Given the description of an element on the screen output the (x, y) to click on. 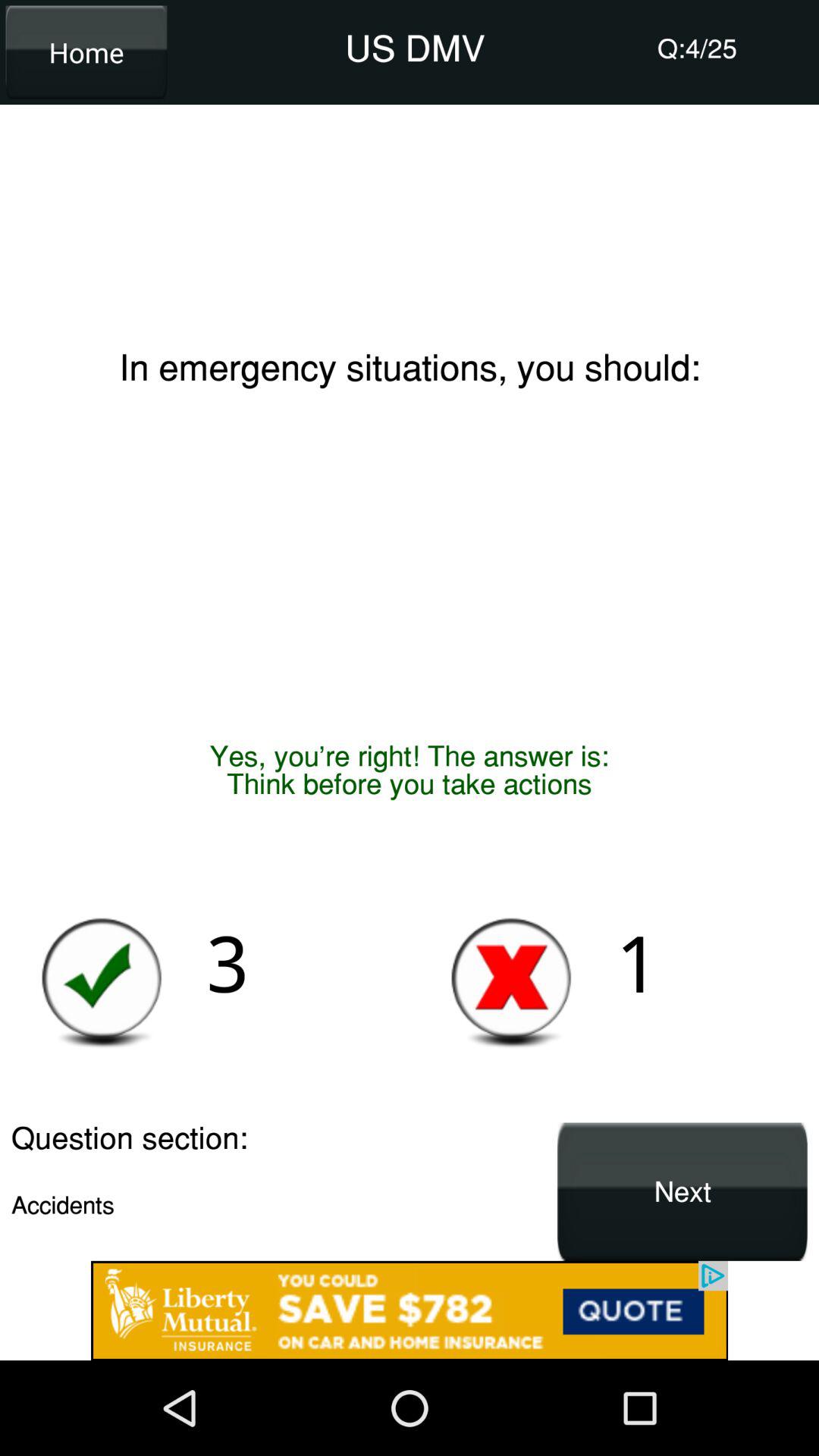
advertisement (409, 1310)
